Given the description of an element on the screen output the (x, y) to click on. 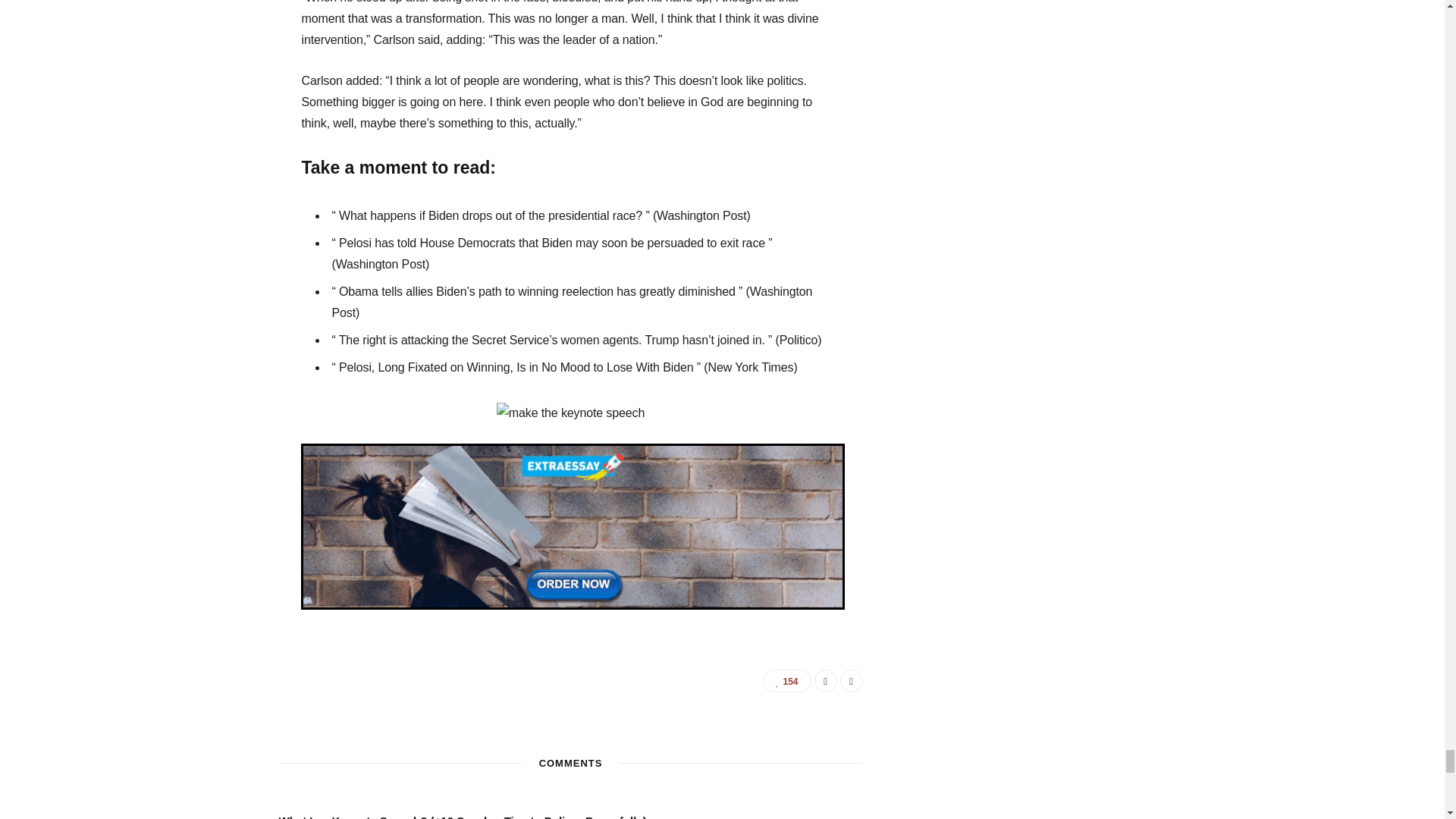
154 (786, 680)
